Given the description of an element on the screen output the (x, y) to click on. 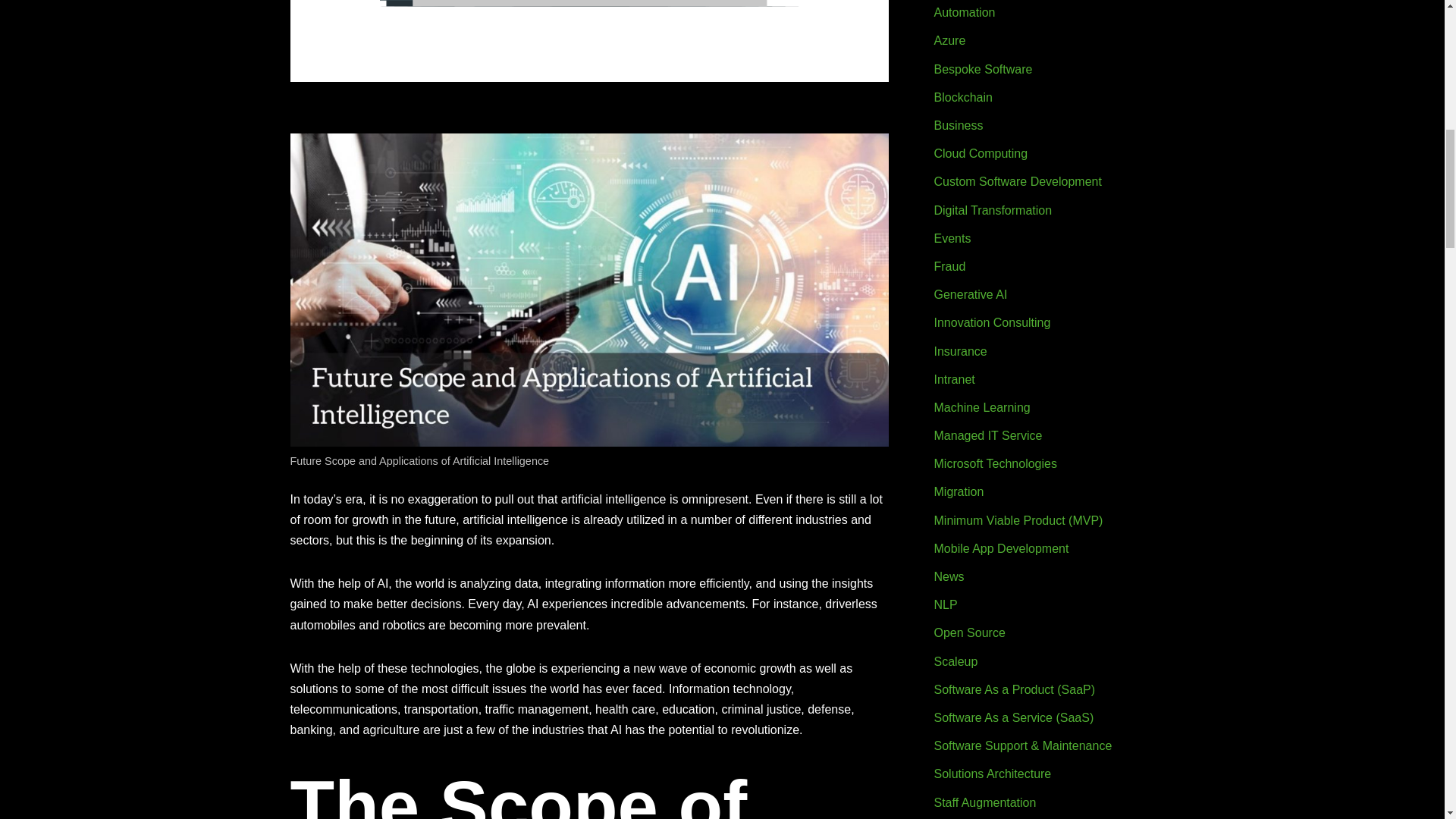
Azure (950, 40)
Bespoke Software (983, 69)
Automation (964, 11)
